Given the description of an element on the screen output the (x, y) to click on. 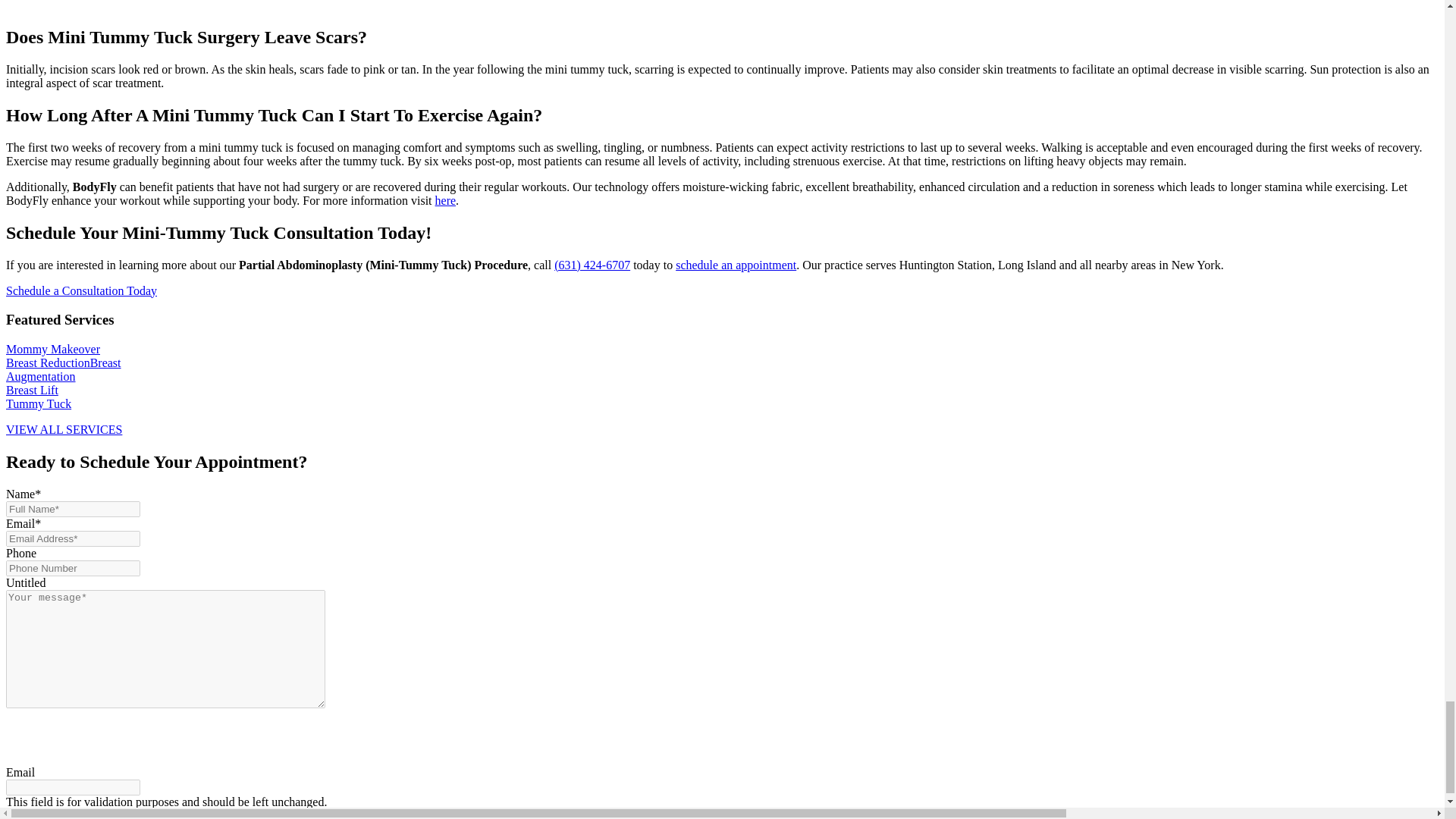
friends running together in a park picture id1170397393 (394, 4)
